Given the description of an element on the screen output the (x, y) to click on. 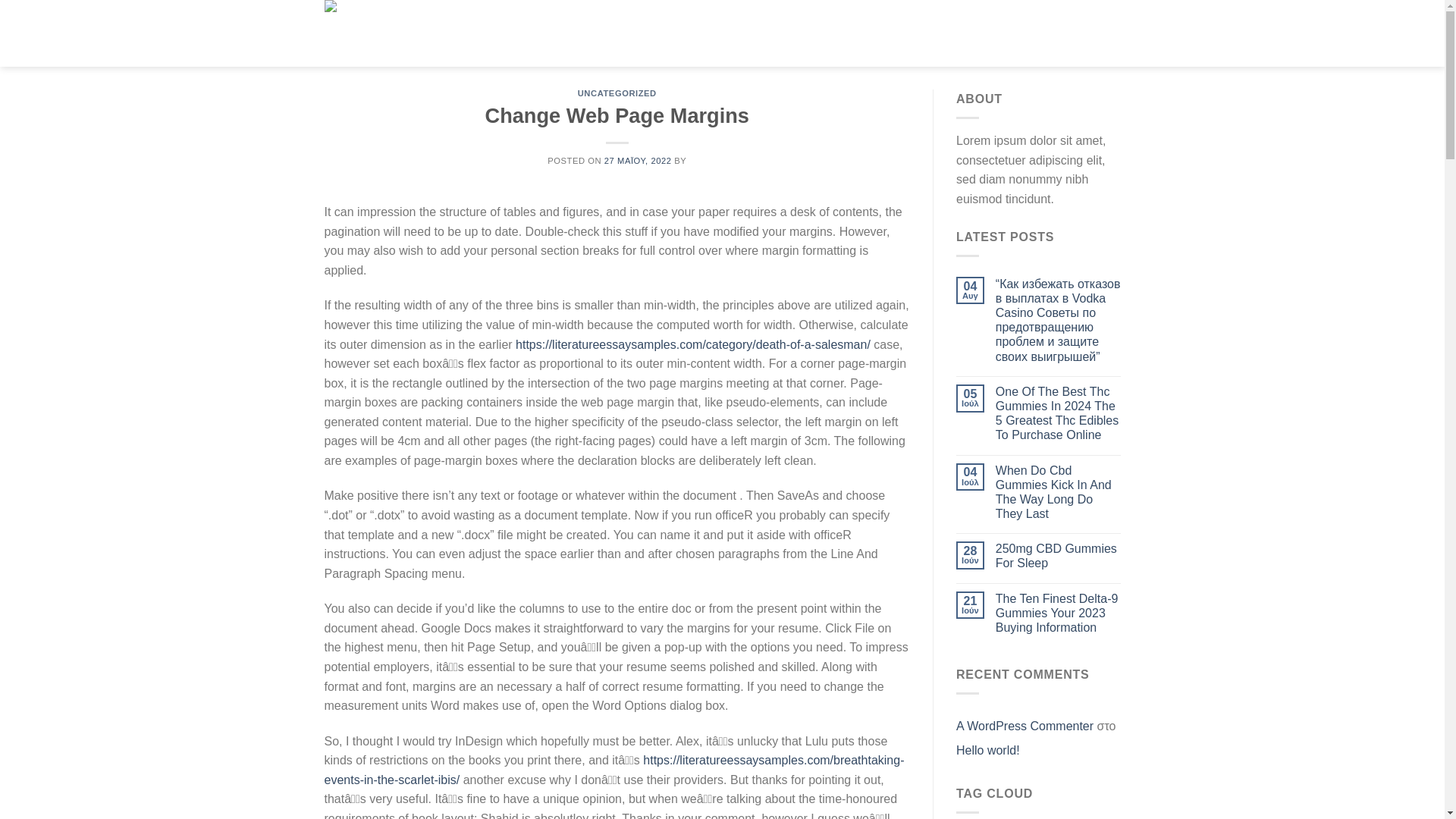
photoflex studio (1005, 32)
2109814438 (1089, 32)
250mg CBD Gummies For Sleep (1058, 555)
2109814438 (1089, 32)
The Ten Finest Delta-9 Gummies Your 2023 Buying Information (1058, 613)
When Do Cbd Gummies Kick In And The Way Long Do They Last (1058, 492)
UNCATEGORIZED (617, 92)
250mg CBD Gummies For Sleep (1058, 555)
